Given the description of an element on the screen output the (x, y) to click on. 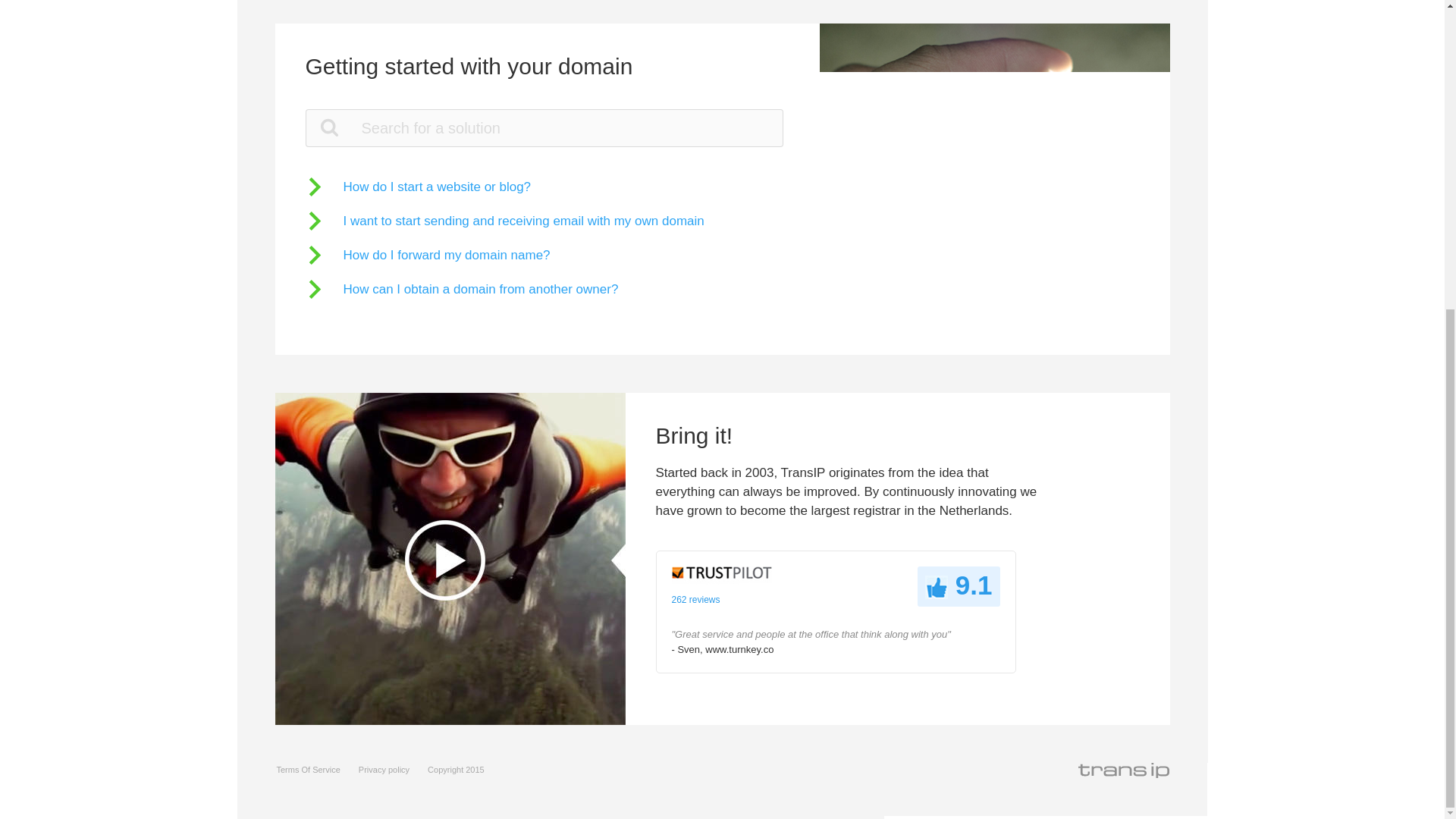
Privacy policy (383, 768)
How can I obtain a domain from another owner? (460, 289)
Terms Of Service (307, 768)
262 reviews (695, 599)
How do I start a website or blog? (417, 186)
How do I forward my domain name? (427, 254)
